Given the description of an element on the screen output the (x, y) to click on. 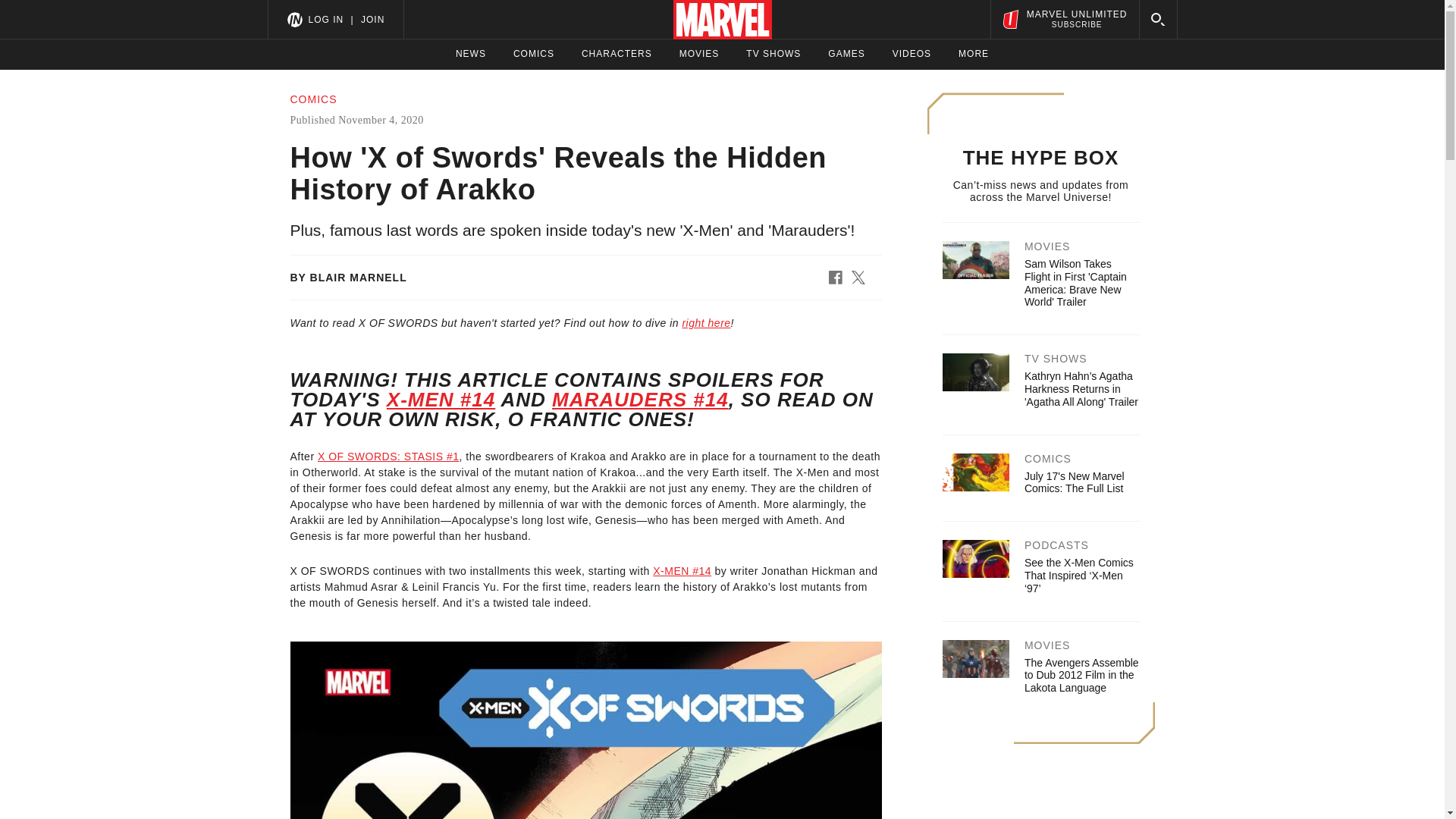
GAMES (846, 54)
right here (705, 322)
MOVIES (699, 54)
JOIN (372, 18)
MORE (973, 54)
NEWS (470, 54)
July 17's New Marvel Comics: The Full List (1064, 19)
TV SHOWS (1074, 482)
LOG IN (772, 54)
COMICS (325, 18)
CHARACTERS (533, 54)
VIDEOS (616, 54)
